Given the description of an element on the screen output the (x, y) to click on. 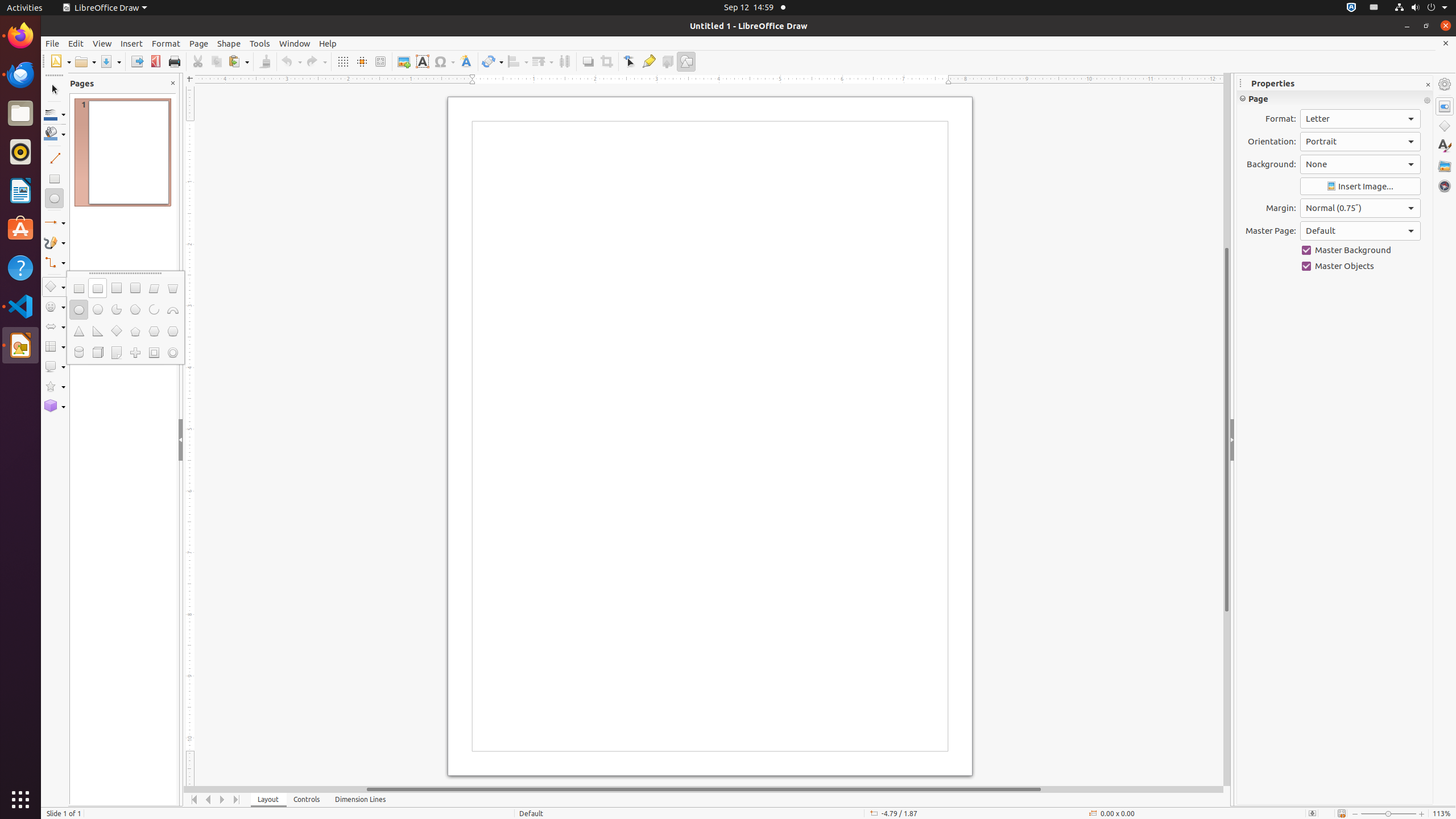
Transformations Element type: push-button (492, 61)
Vertical Ruler Element type: ruler (190, 436)
Crop Element type: push-button (606, 61)
Show Applications Element type: toggle-button (20, 799)
Orientation: Element type: combo-box (1360, 141)
